Given the description of an element on the screen output the (x, y) to click on. 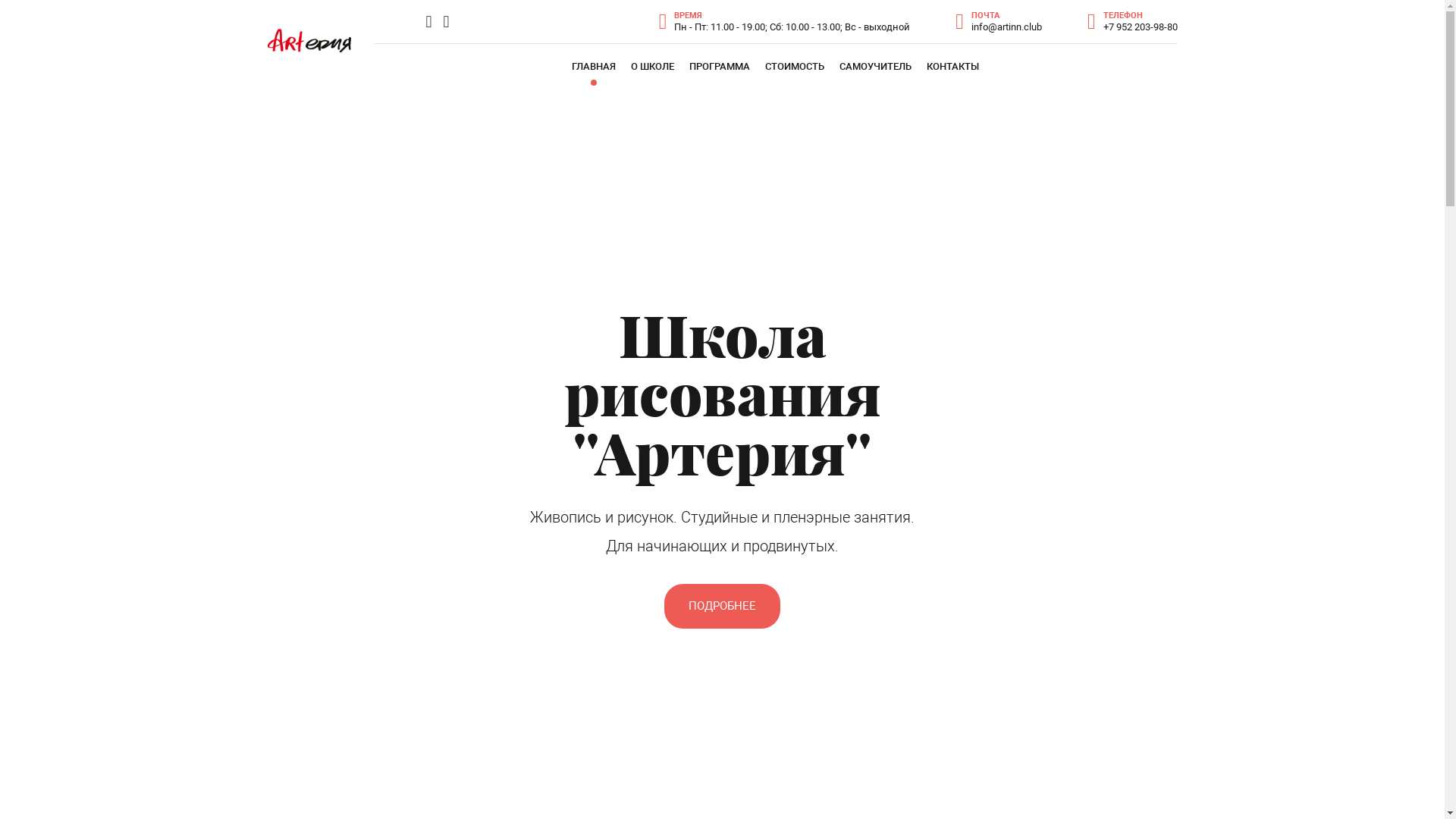
+7 952 203-98-80 Element type: text (1139, 26)
info@artinn.club Element type: text (1006, 26)
